Given the description of an element on the screen output the (x, y) to click on. 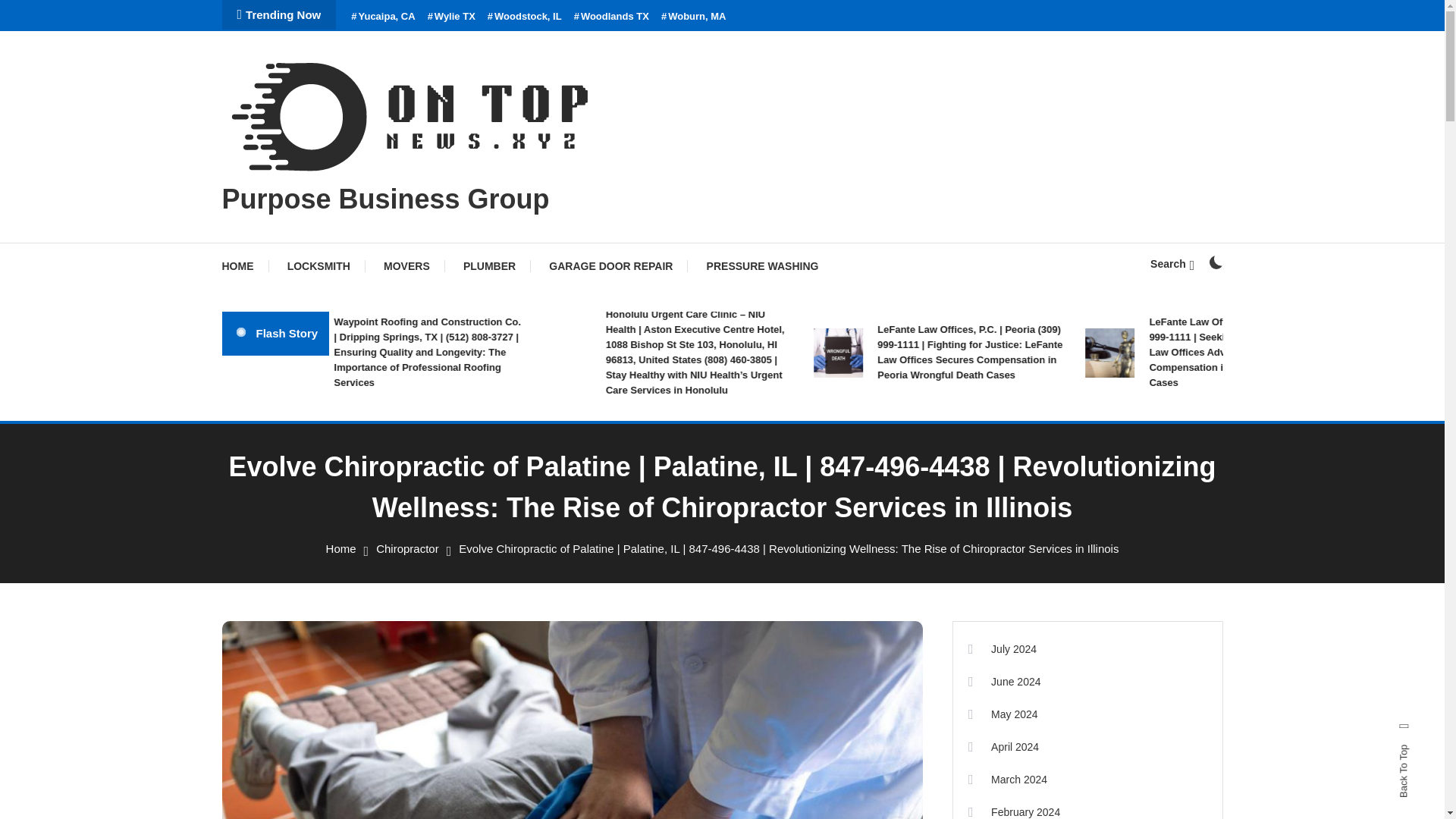
GARAGE DOOR REPAIR (610, 266)
Yucaipa, CA (382, 16)
Home (341, 548)
Search (1171, 263)
on (1215, 262)
Purpose Business Group (384, 198)
HOME (244, 266)
PLUMBER (489, 266)
Wylie TX (452, 16)
MOVERS (406, 266)
Chiropractor (407, 548)
LOCKSMITH (318, 266)
Woburn, MA (693, 16)
Search (768, 434)
Woodlands TX (611, 16)
